Given the description of an element on the screen output the (x, y) to click on. 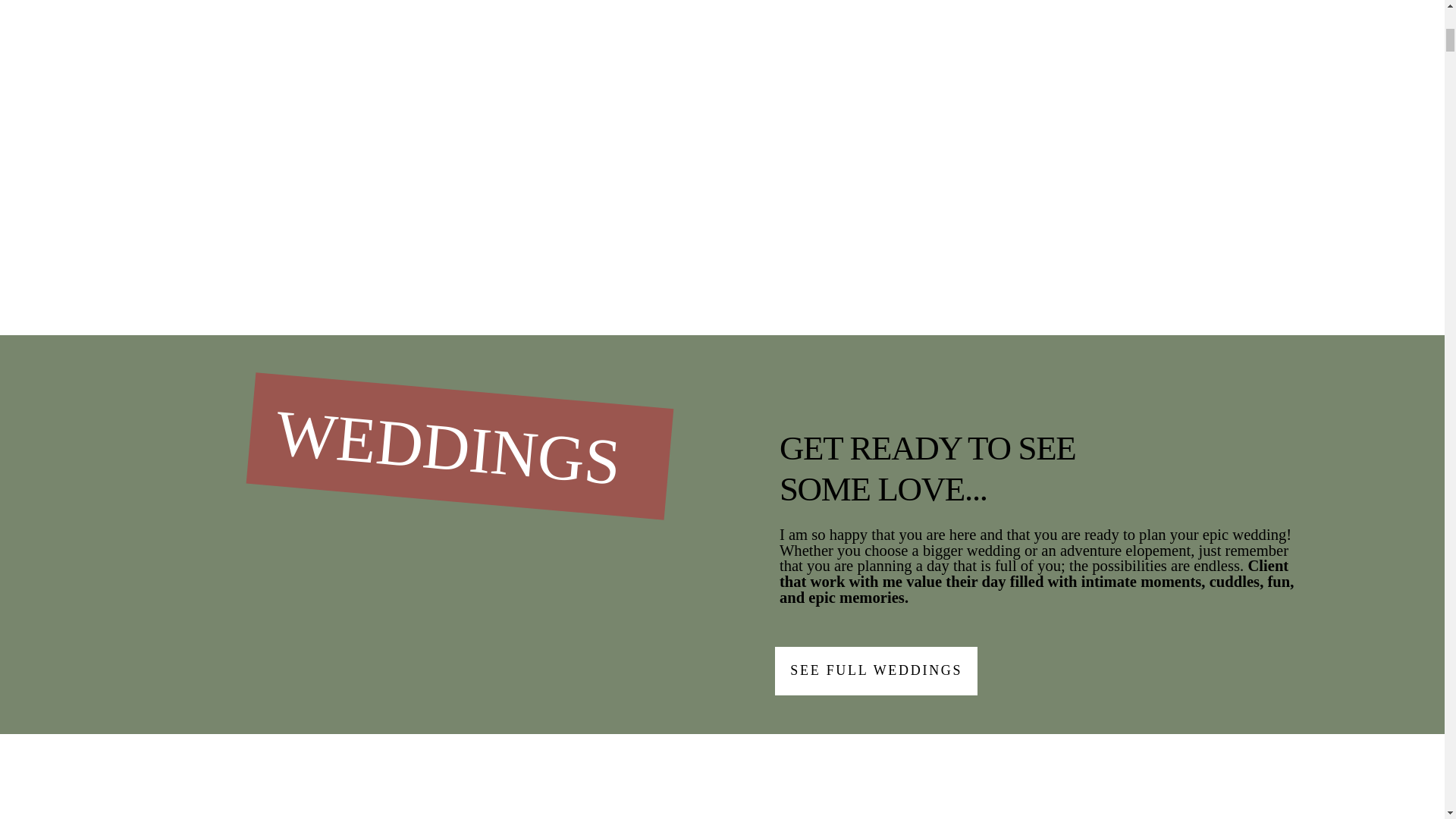
SEE FULL WEDDINGS (875, 671)
